Given the description of an element on the screen output the (x, y) to click on. 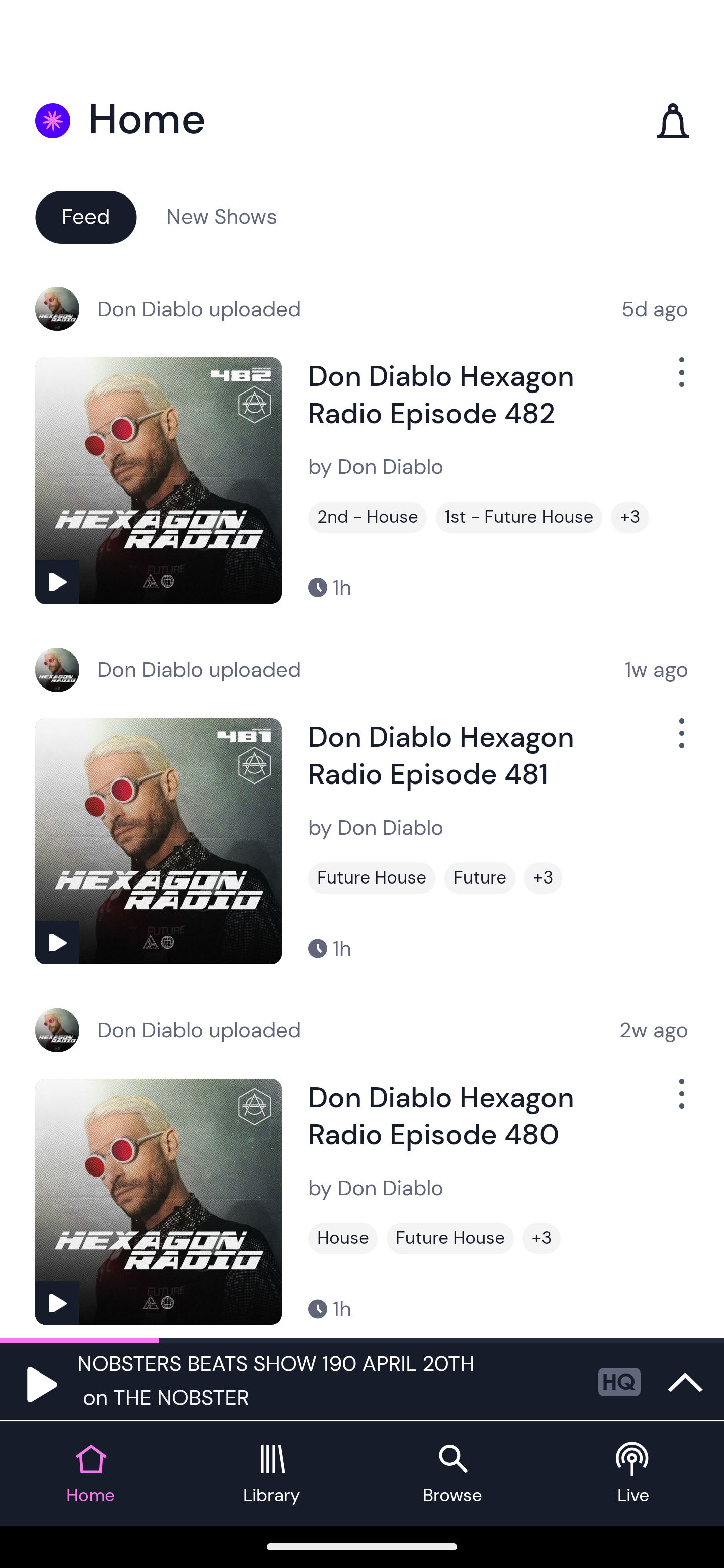
Feed (85, 216)
New Shows (221, 216)
Show Options Menu Button (679, 379)
2nd - House (367, 517)
1st - Future House (518, 517)
Show Options Menu Button (679, 740)
Future House (371, 877)
Future (479, 877)
Show Options Menu Button (679, 1101)
House (342, 1238)
Future House (450, 1238)
Home tab Home (90, 1473)
Library tab Library (271, 1473)
Browse tab Browse (452, 1473)
Live tab Live (633, 1473)
